Given the description of an element on the screen output the (x, y) to click on. 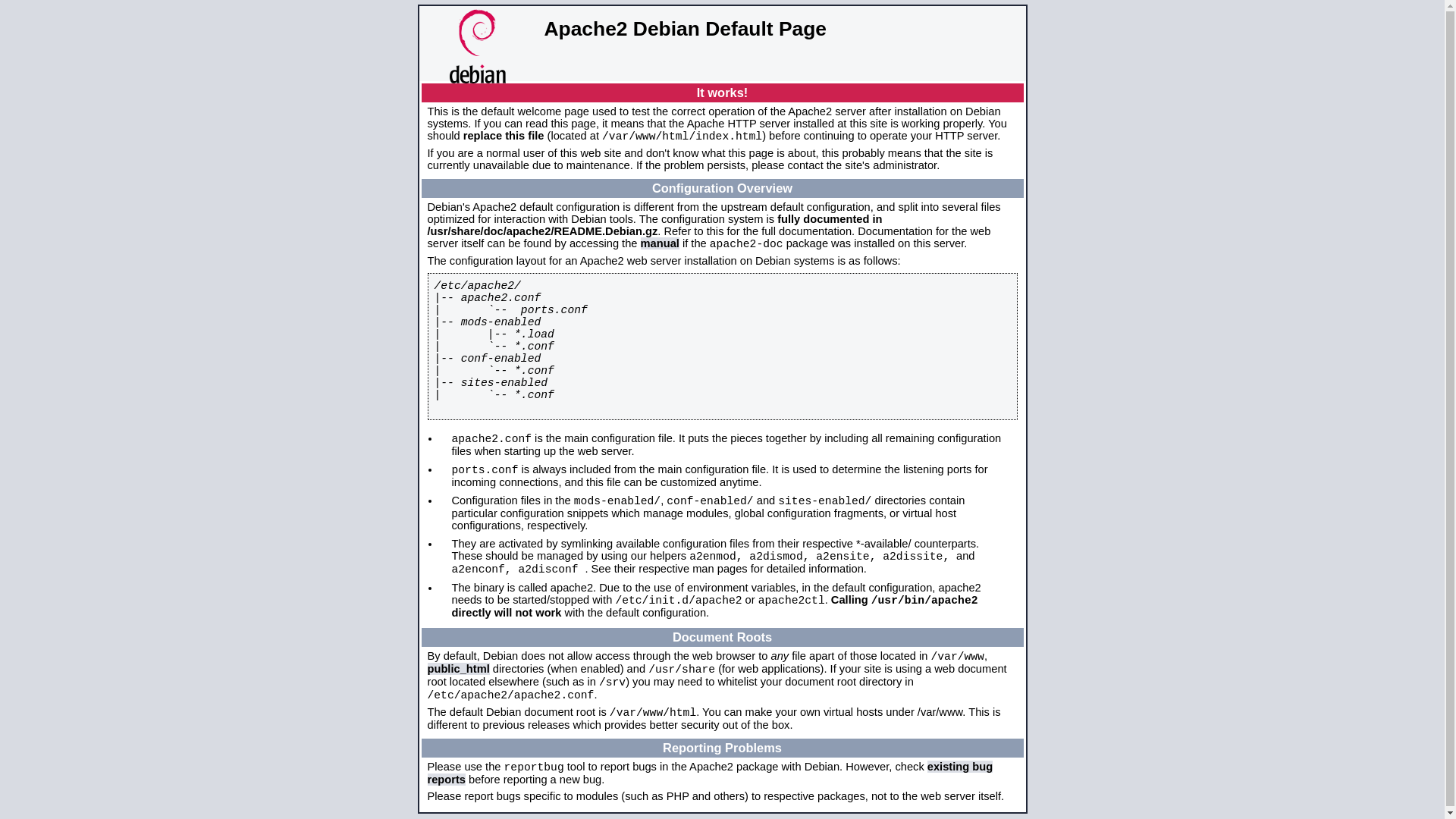
manual Element type: text (659, 243)
existing bug reports Element type: text (710, 772)
public_html Element type: text (458, 668)
